Given the description of an element on the screen output the (x, y) to click on. 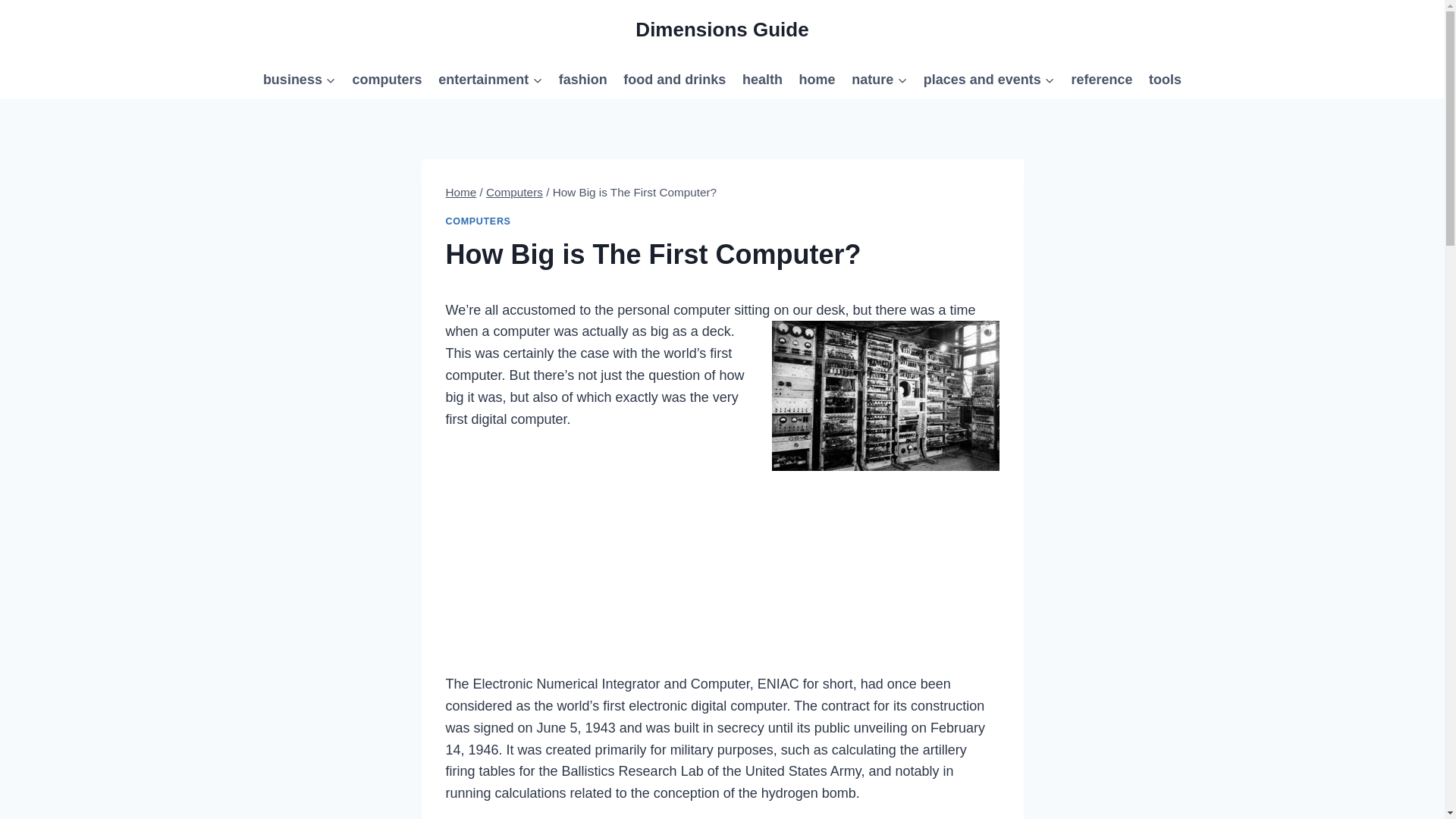
computers (386, 79)
reference (1101, 79)
Home (461, 192)
home (817, 79)
The First Computer (884, 395)
nature (879, 79)
COMPUTERS (478, 221)
Advertisement (721, 565)
Dimensions Guide (721, 29)
food and drinks (675, 79)
health (761, 79)
entertainment (489, 79)
Computers (514, 192)
business (298, 79)
fashion (582, 79)
